Given the description of an element on the screen output the (x, y) to click on. 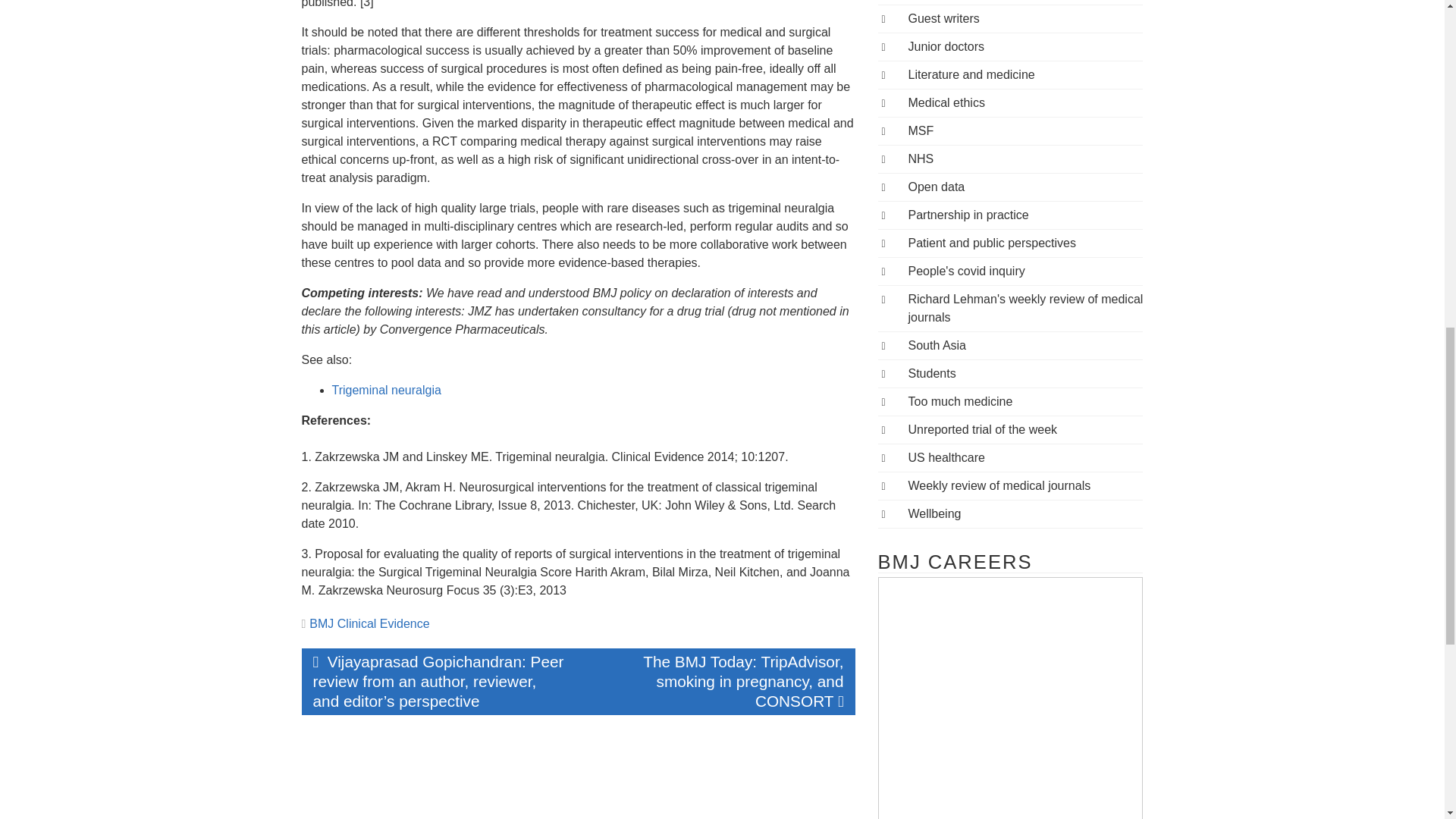
BMJ Clinical Evidence (368, 623)
Trigeminal neuralgia (386, 390)
